Given the description of an element on the screen output the (x, y) to click on. 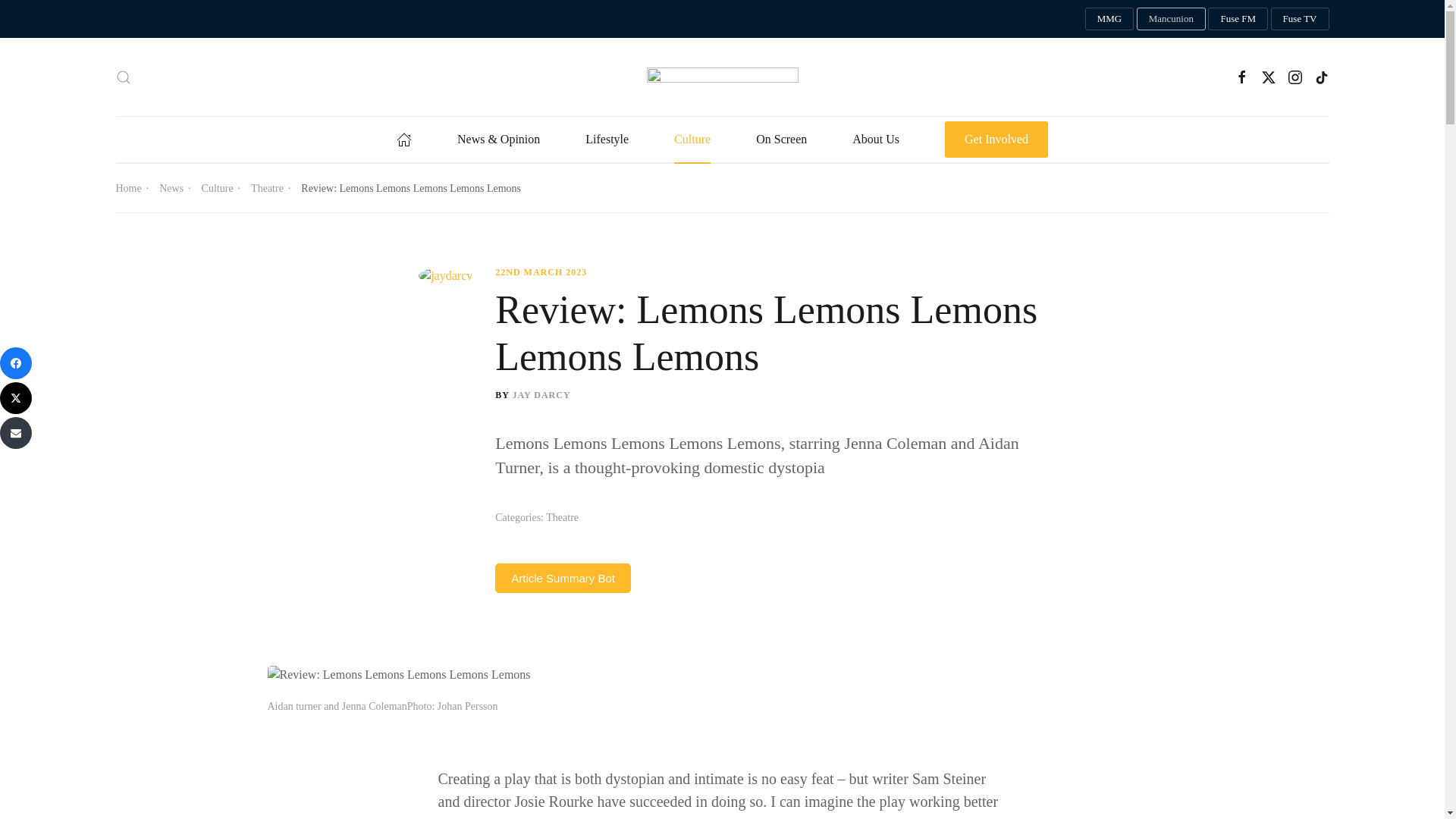
Manchester Fuse FM (1238, 18)
Posts by Jay Darcy (541, 394)
Fuse FM (1238, 18)
MMG (1109, 18)
Manchester Fuse TV (1300, 18)
Manchester Media Group (1109, 18)
Manchester University Mancunion Newspaper (1171, 18)
Mancunion (1171, 18)
Fuse TV (1300, 18)
